Given the description of an element on the screen output the (x, y) to click on. 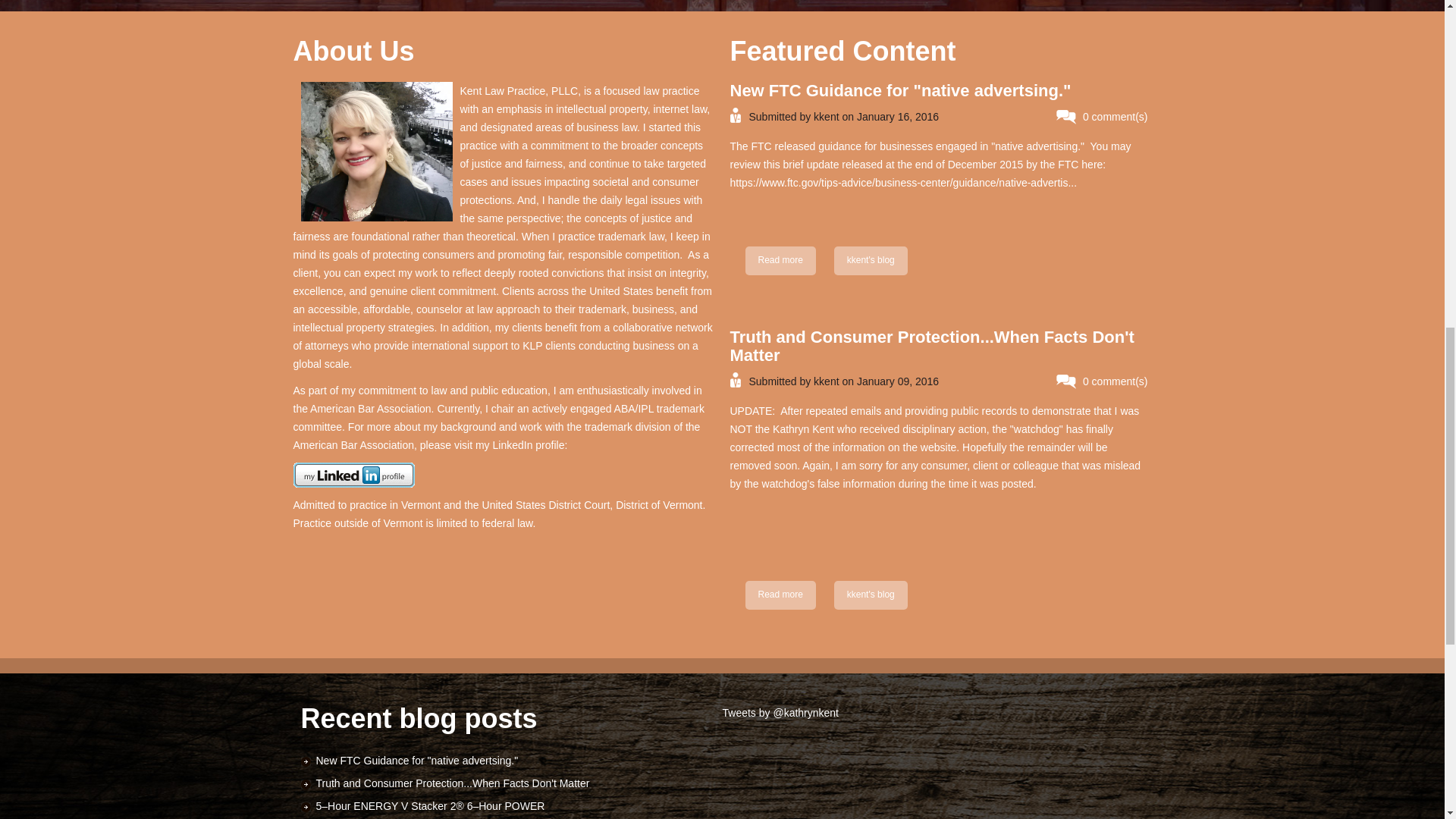
Truth and Consumer Protection...When Facts Don't Matter (779, 594)
Truth and Consumer Protection...When Facts Don't Matter (931, 345)
New FTC Guidance for "native advertsing." (899, 90)
Read kkent's latest blog entries. (870, 260)
Read kkent's latest blog entries. (779, 260)
kkent's blog (870, 594)
New FTC Guidance for "native advertsing." (870, 260)
